Given the description of an element on the screen output the (x, y) to click on. 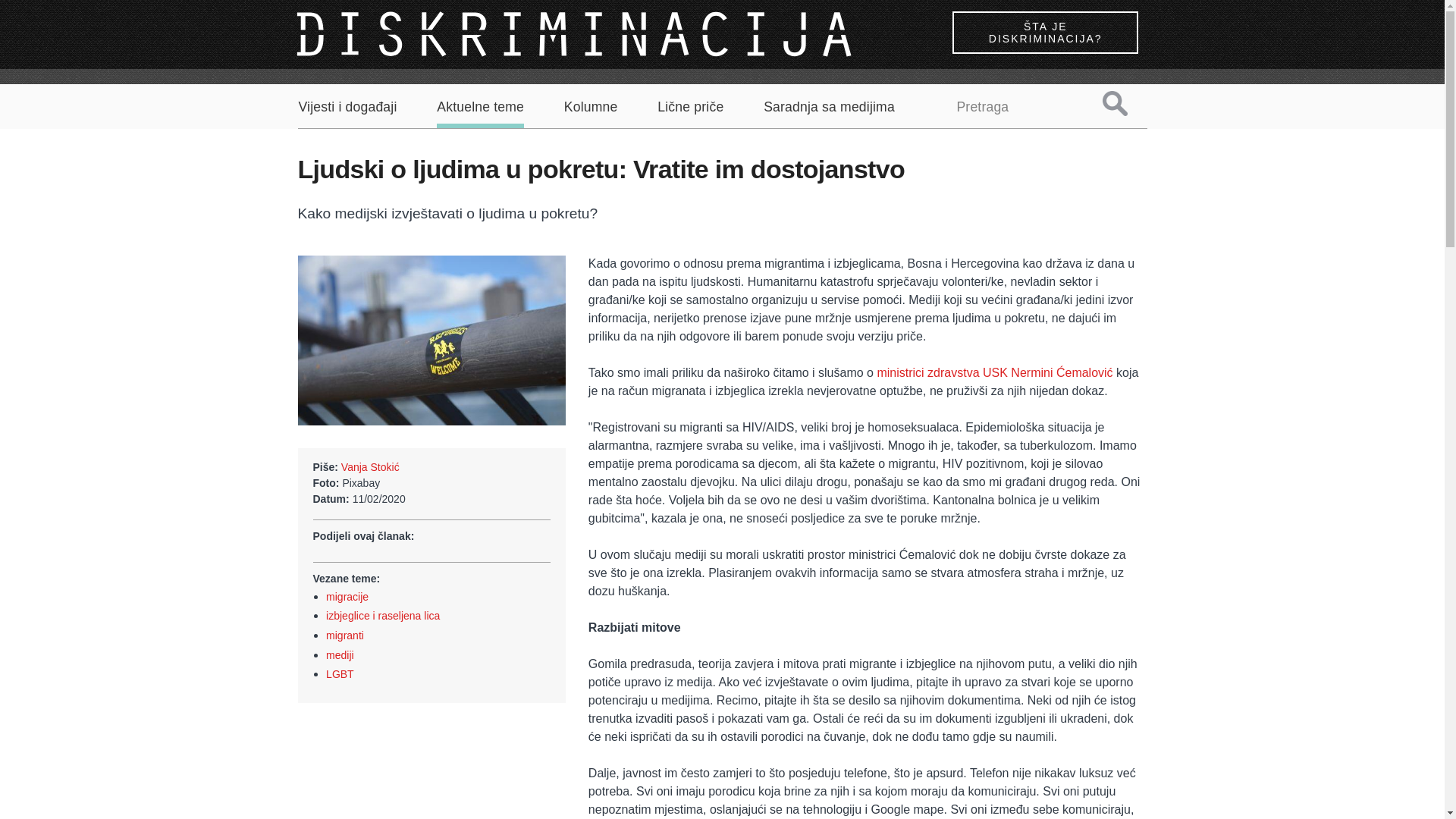
migracije Element type: text (347, 596)
Saradnja sa medijima Element type: text (828, 107)
Pretraga Element type: text (1126, 103)
migranti Element type: text (345, 635)
mediji Element type: text (340, 655)
Kolumne Element type: text (591, 107)
Aktuelne teme Element type: text (480, 113)
Naslovnica Element type: hover (576, 33)
Skip to main content Element type: text (54, 0)
izbjeglice i raseljena lica Element type: text (382, 615)
LGBT Element type: text (340, 674)
